Given the description of an element on the screen output the (x, y) to click on. 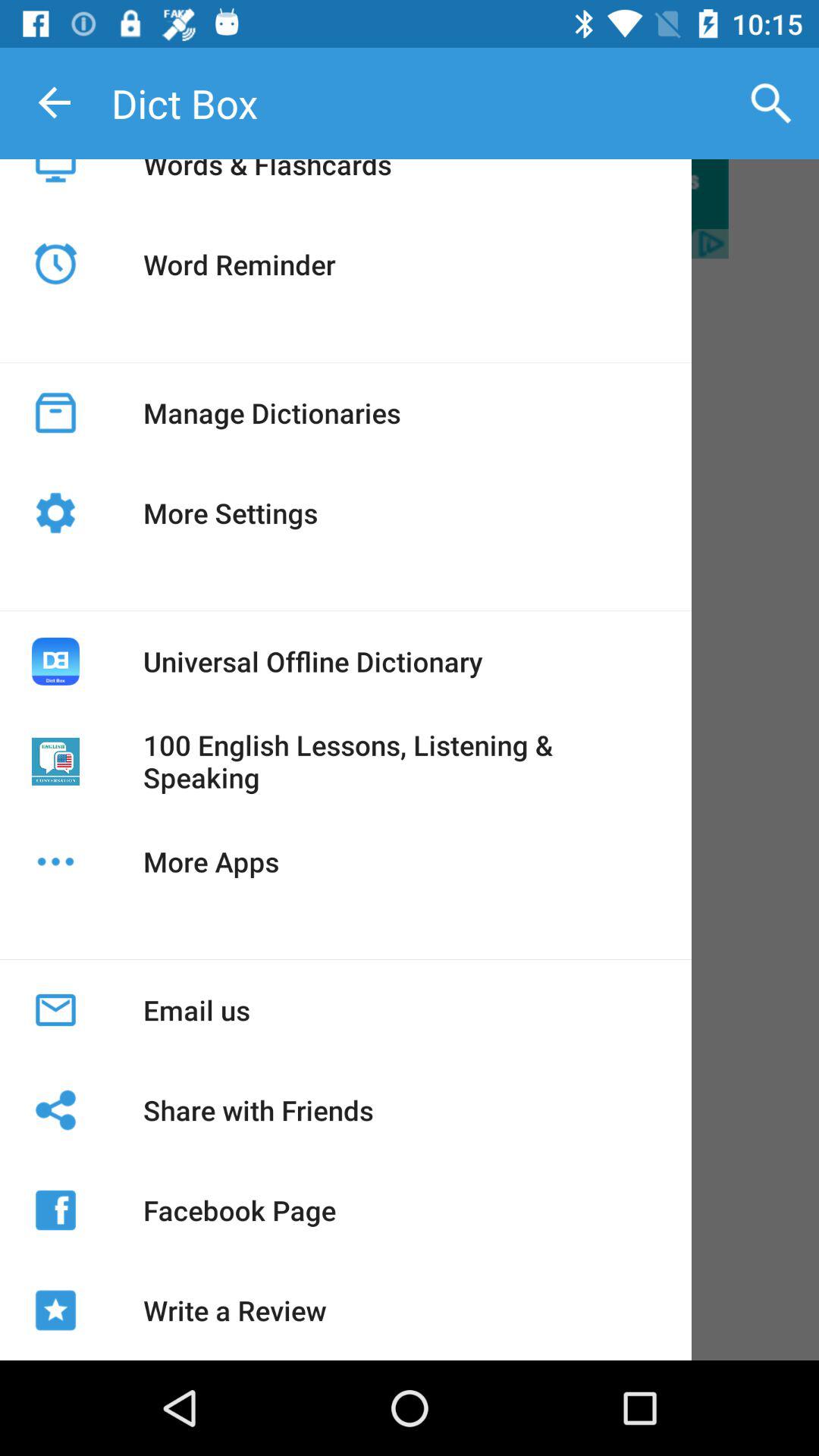
open the more settings item (230, 512)
